Given the description of an element on the screen output the (x, y) to click on. 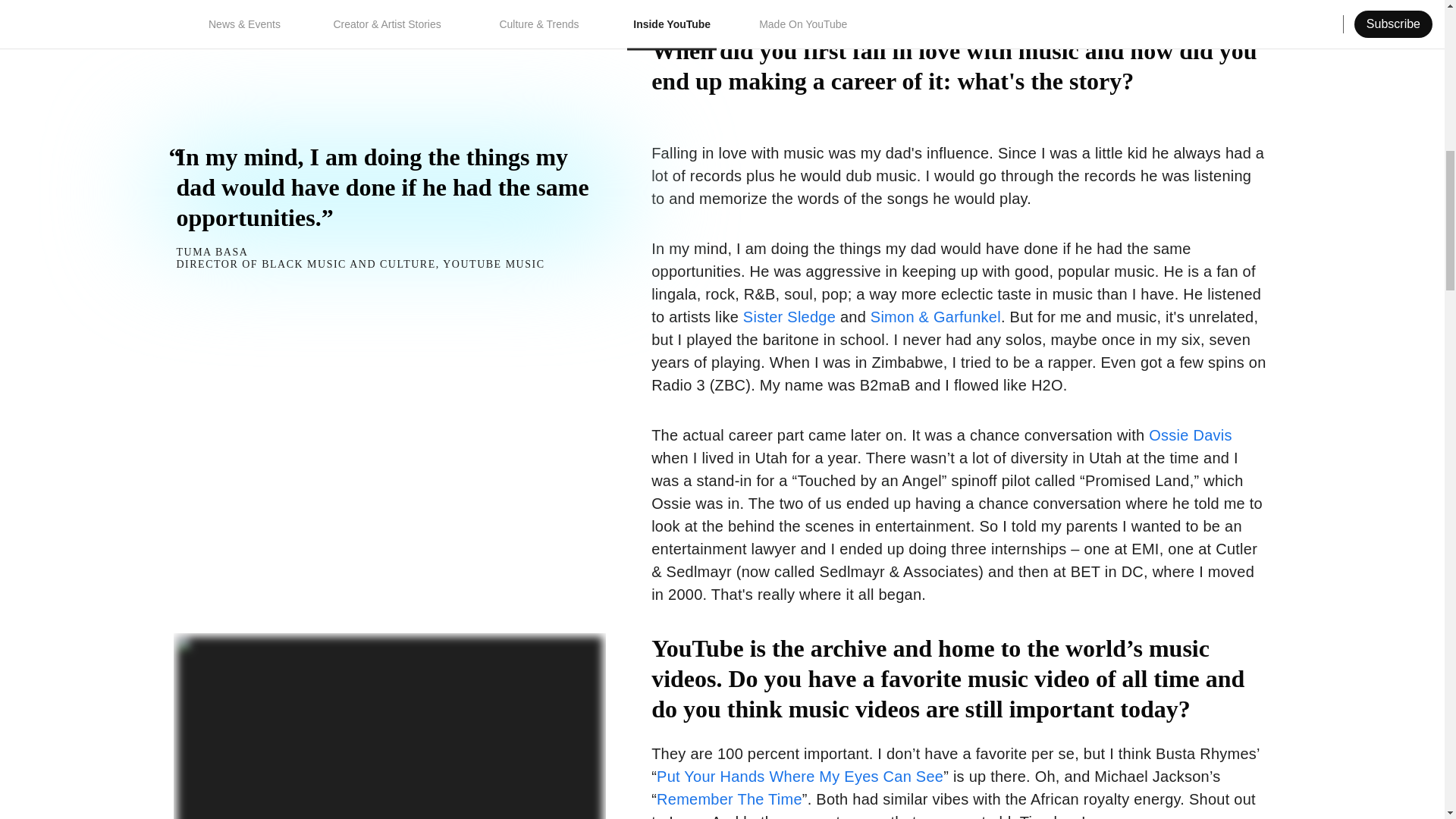
Put Your Hands Where My Eyes Can See (799, 776)
Remember The Time (729, 799)
Sister Sledge (788, 316)
Ossie Davis (1189, 434)
